Given the description of an element on the screen output the (x, y) to click on. 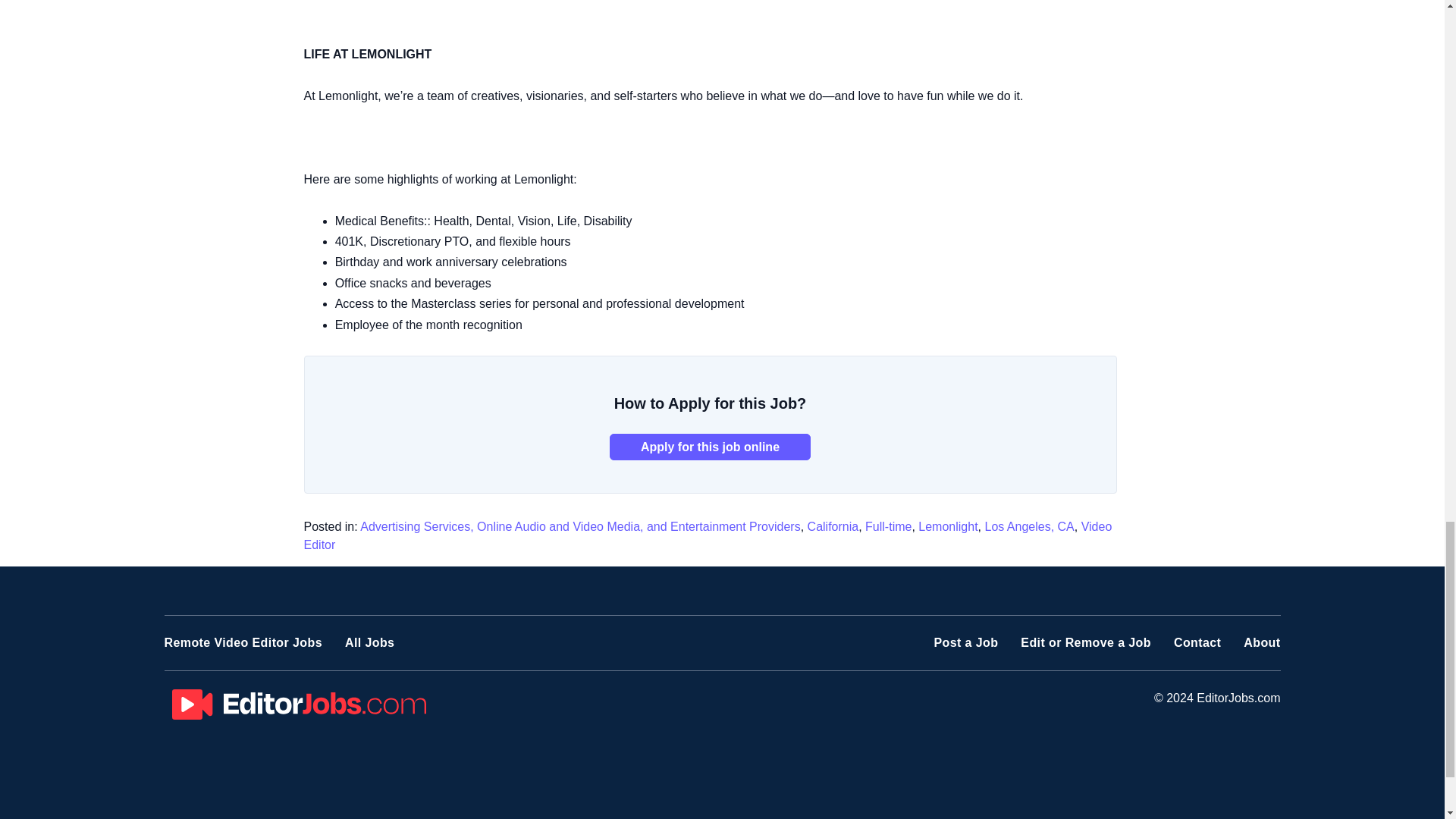
About (1261, 642)
Los Angeles, CA (1029, 526)
Edit or Remove a Job (1085, 642)
Post a Job (965, 642)
Full-time (887, 526)
Video Editor (707, 535)
Contact (1197, 642)
Apply for this job online (710, 447)
Lemonlight (947, 526)
California (833, 526)
All Jobs (369, 642)
Remote Video Editor Jobs (242, 642)
